Given the description of an element on the screen output the (x, y) to click on. 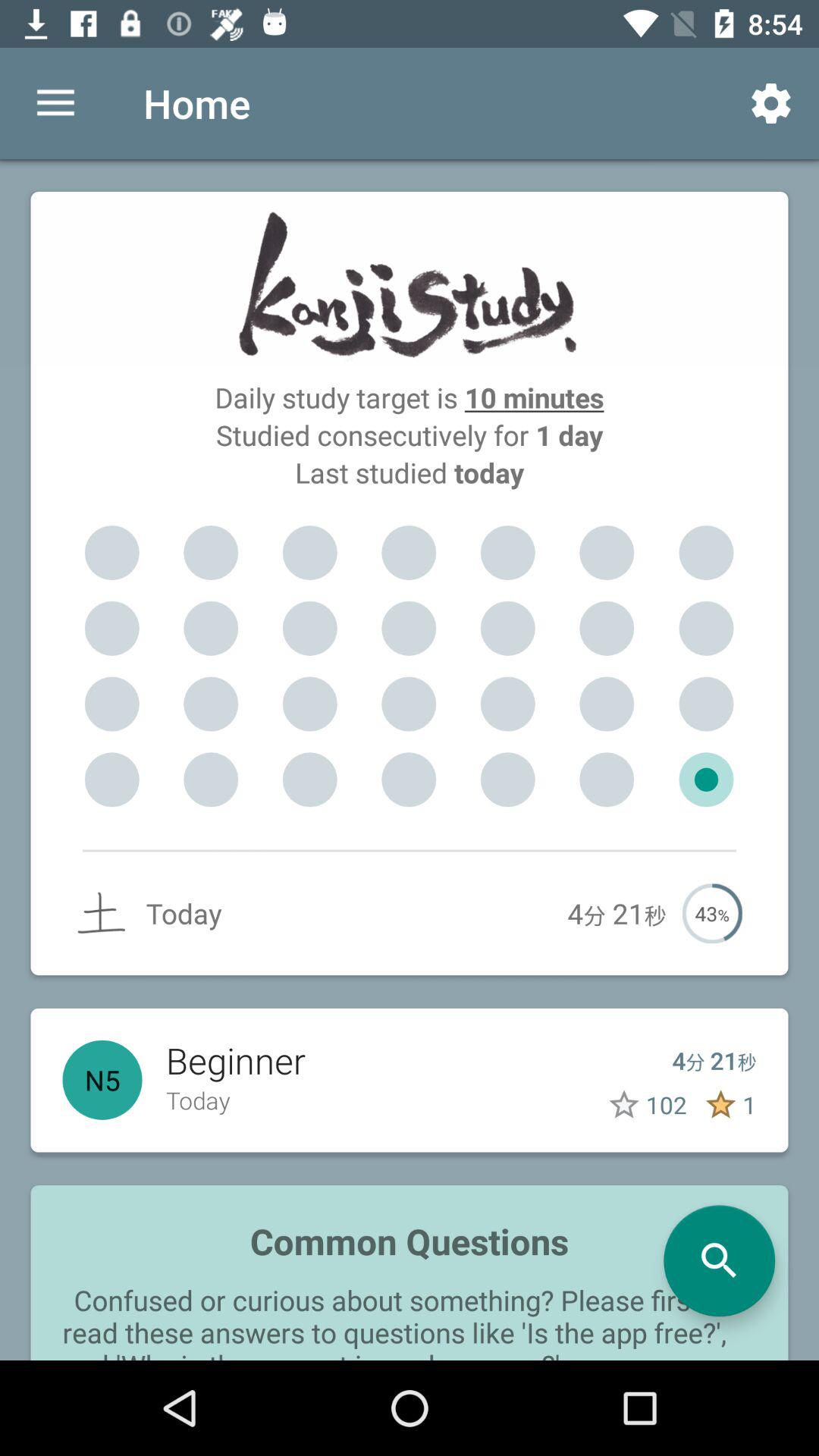
click item below last studied today item (606, 552)
